Given the description of an element on the screen output the (x, y) to click on. 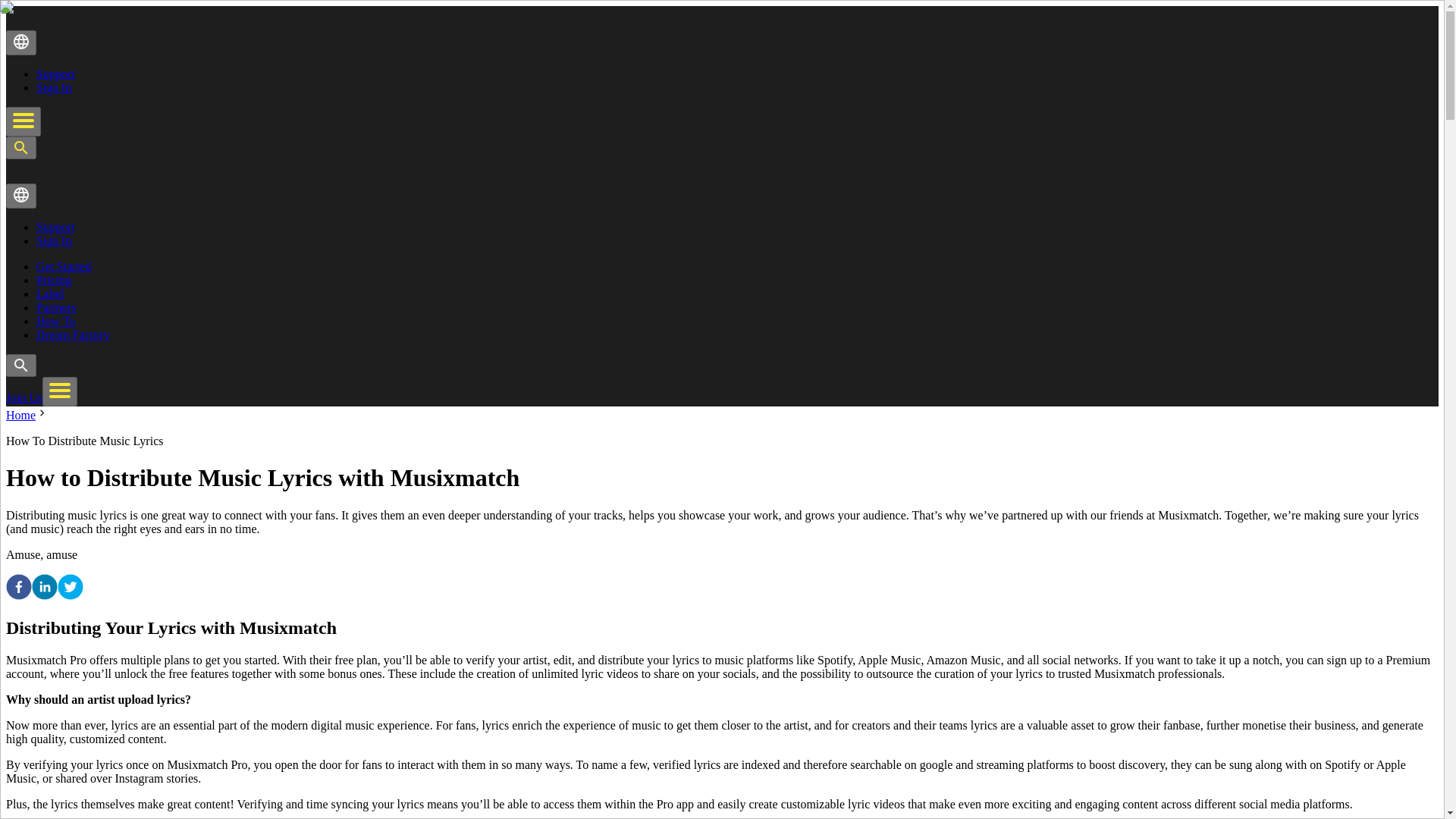
Sign In (53, 87)
Support (55, 226)
Support (55, 73)
Join Us (23, 397)
Home (19, 414)
Pricing (53, 279)
Sign In (53, 240)
Partners (55, 307)
How To (55, 320)
Label (50, 293)
Get Started (63, 266)
Dream Factory (72, 334)
